Given the description of an element on the screen output the (x, y) to click on. 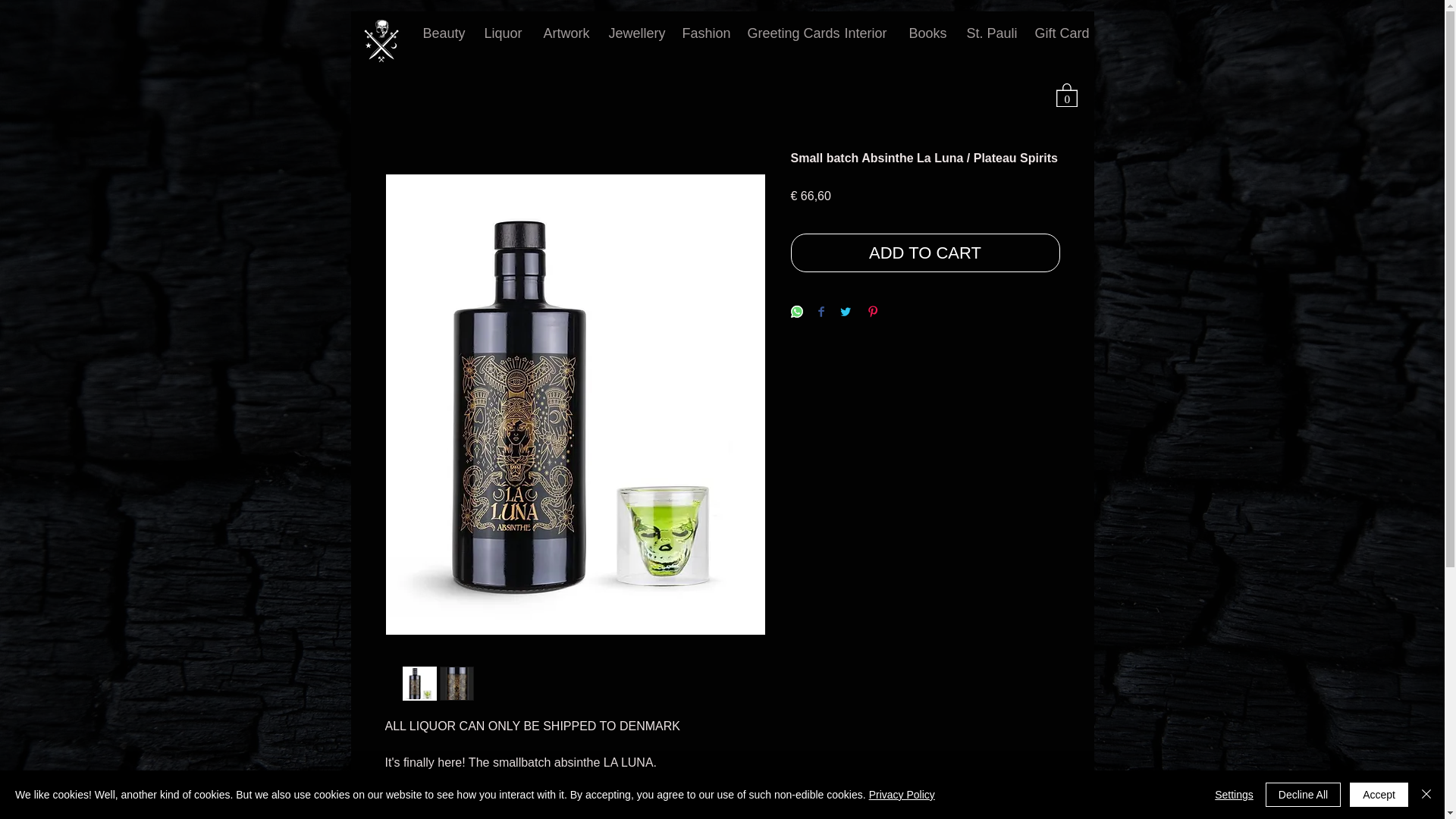
Fashion (702, 33)
ADD TO CART (924, 252)
Liquor (502, 33)
Beauty (440, 33)
Artwork (564, 33)
Jewellery (633, 33)
